Given the description of an element on the screen output the (x, y) to click on. 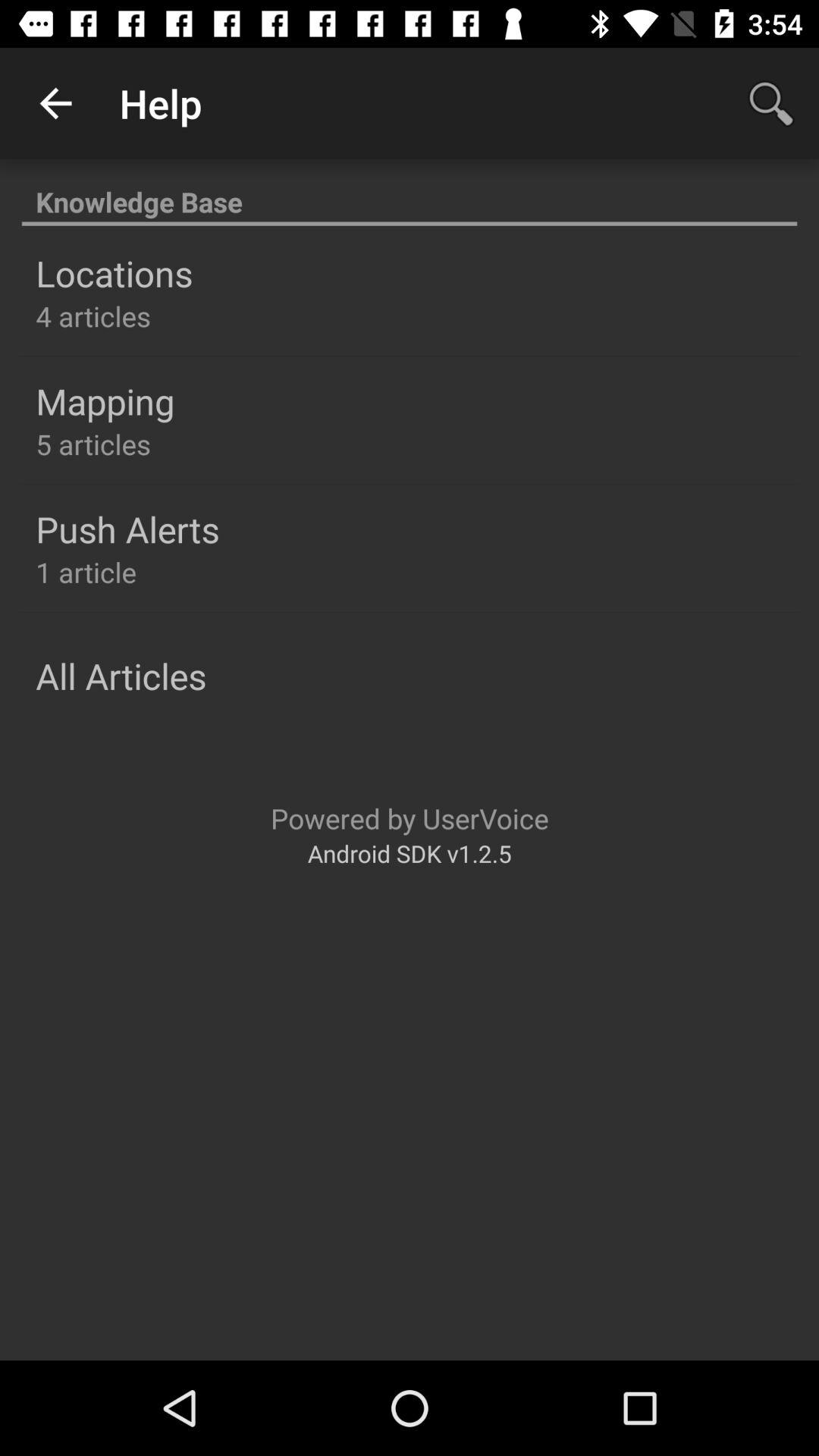
turn off the item below push alerts item (85, 571)
